Given the description of an element on the screen output the (x, y) to click on. 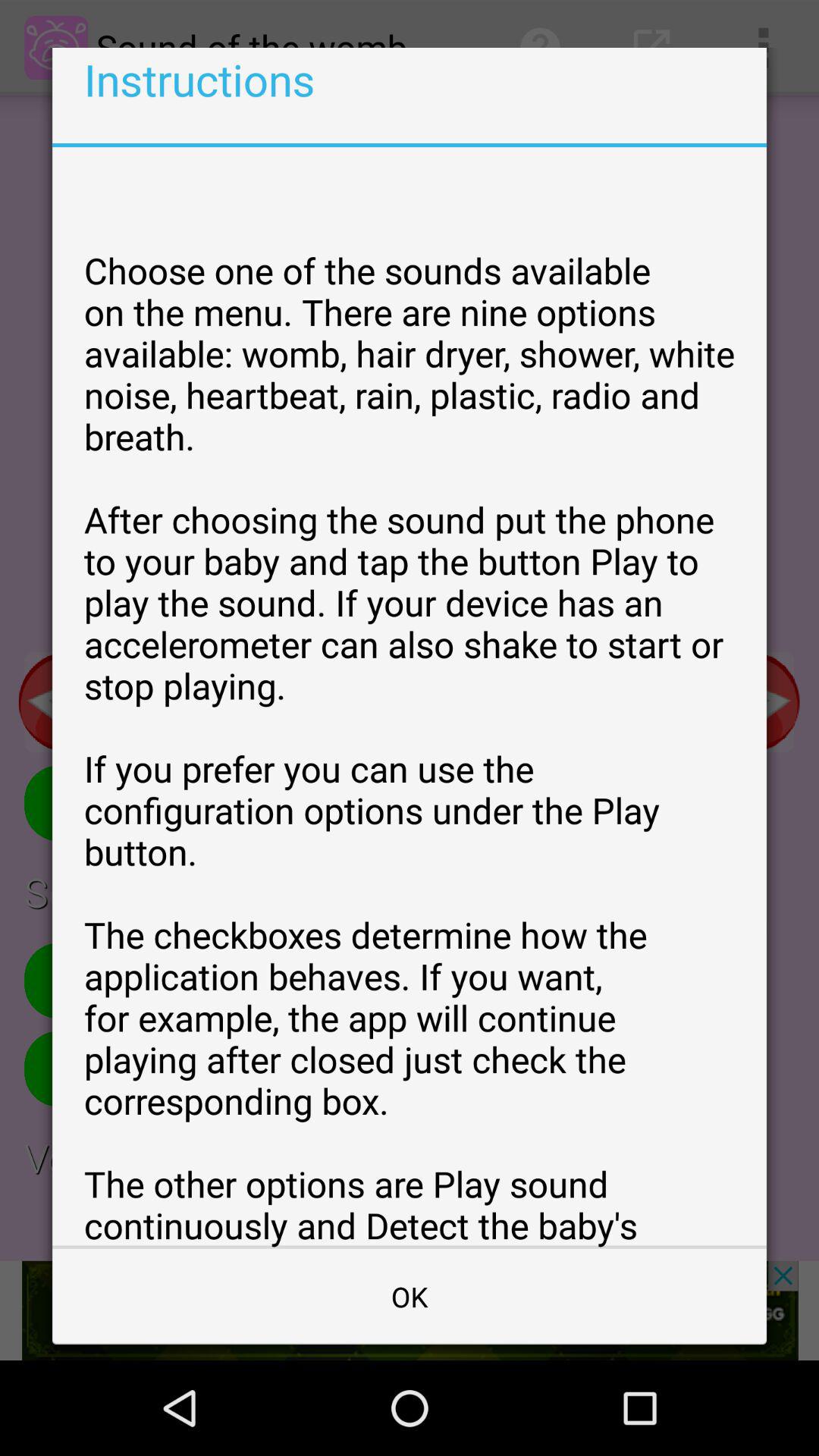
jump until the ok item (409, 1296)
